Given the description of an element on the screen output the (x, y) to click on. 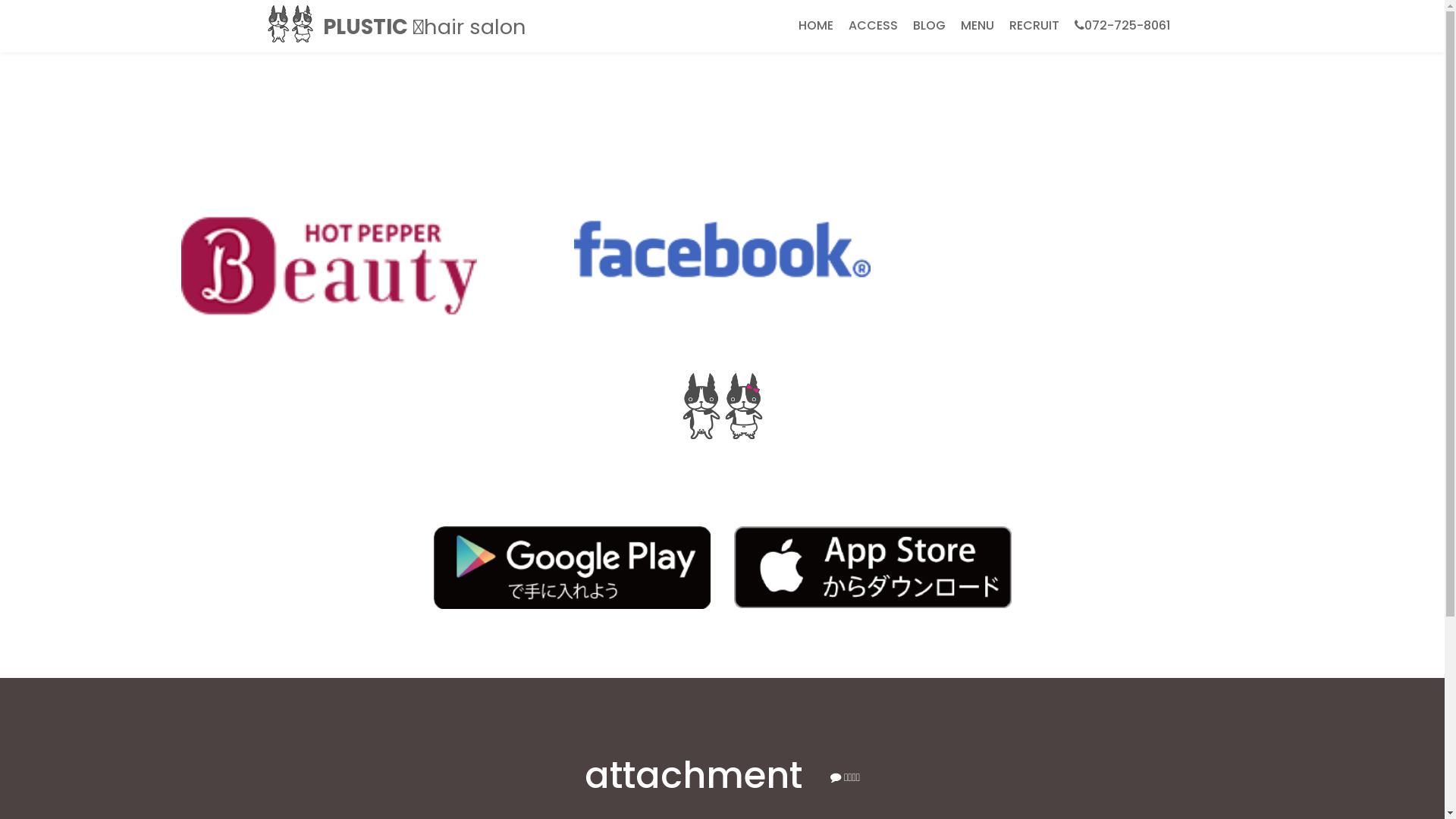
BLOG Element type: text (722, 107)
ACCESS Element type: text (722, 70)
ACCESS Element type: text (872, 26)
RECRUIT Element type: text (722, 181)
MENU Element type: text (976, 26)
HOME Element type: text (815, 26)
MENU Element type: text (722, 144)
HOME Element type: text (722, 33)
072-725-8061 Element type: text (1121, 26)
BLOG Element type: text (929, 26)
RECRUIT Element type: text (1033, 26)
